Given the description of an element on the screen output the (x, y) to click on. 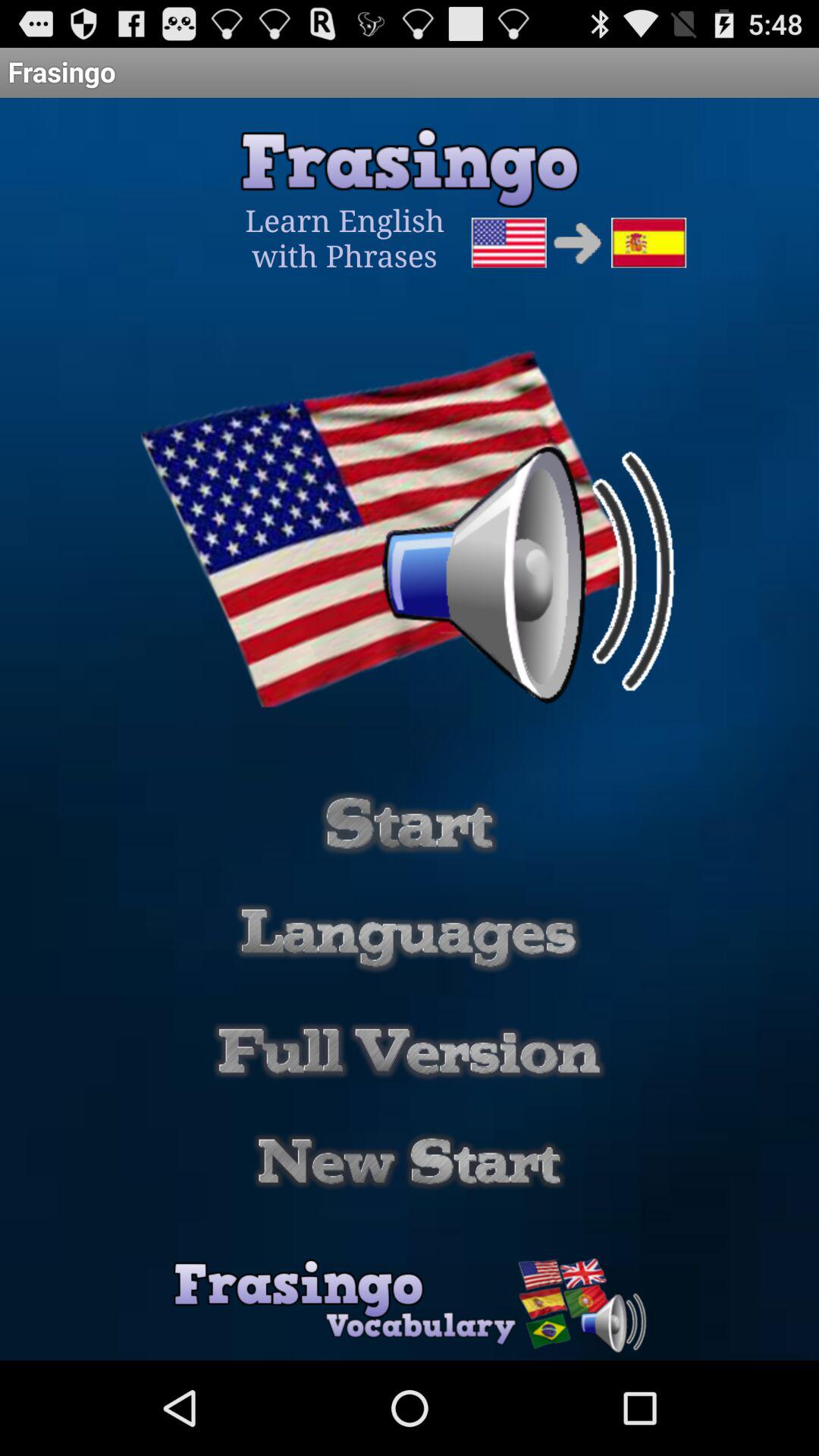
show full version (409, 1051)
